Given the description of an element on the screen output the (x, y) to click on. 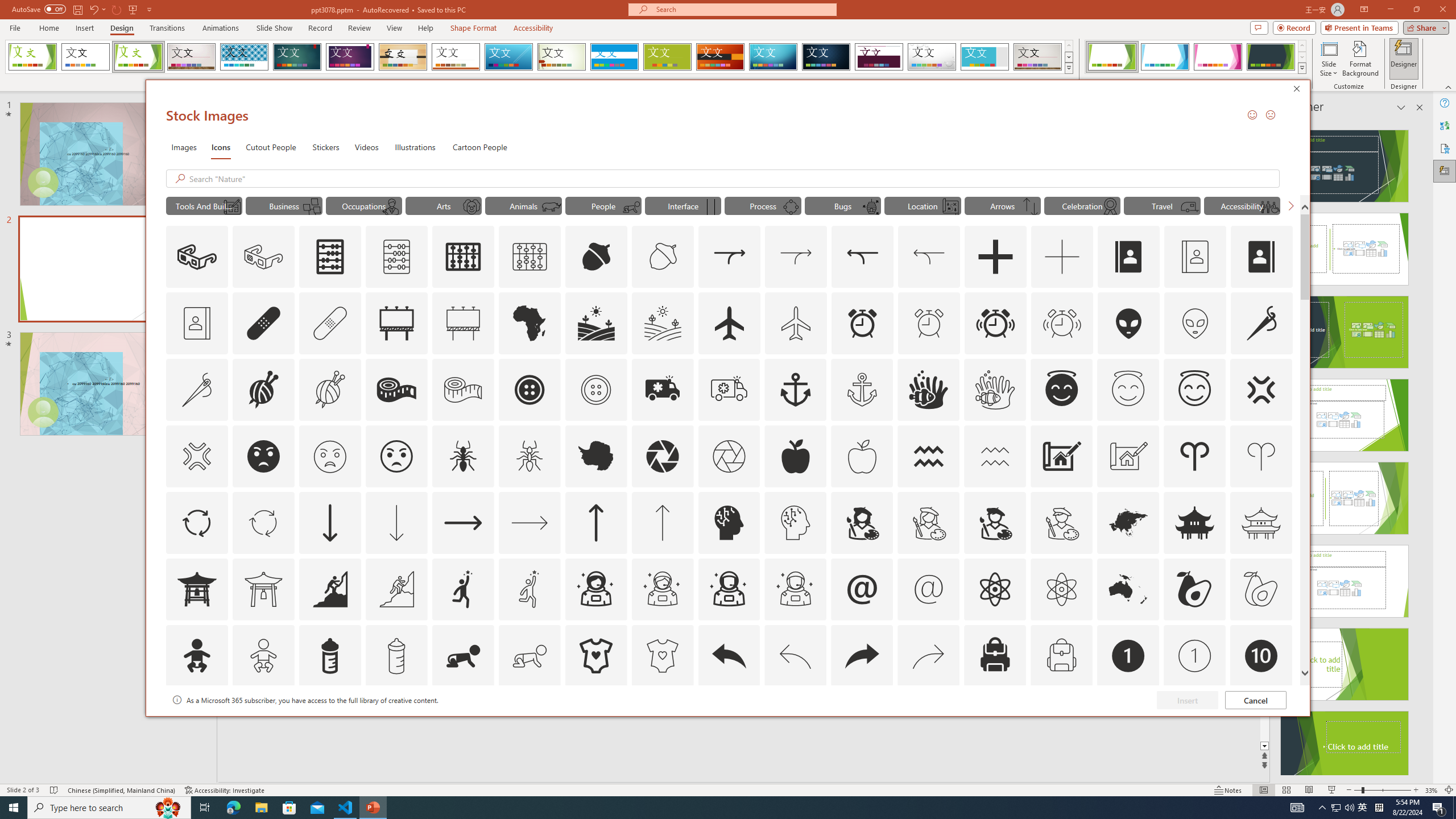
AutomationID: Icons_ArrowUp_M (662, 522)
AutomationID: Icons_AddressBook_RTL (1261, 256)
AutomationID: Icons_AsianTemple (1194, 522)
AutomationID: Icons_TreasureMap_M (950, 206)
AutomationID: Icons_Ant_M (529, 455)
Images (183, 146)
AutomationID: Icons_Acquisition_LTR_M (796, 256)
AutomationID: Icons_Airplane_M (796, 323)
AutomationID: Icons_Acorn (596, 256)
